Given the description of an element on the screen output the (x, y) to click on. 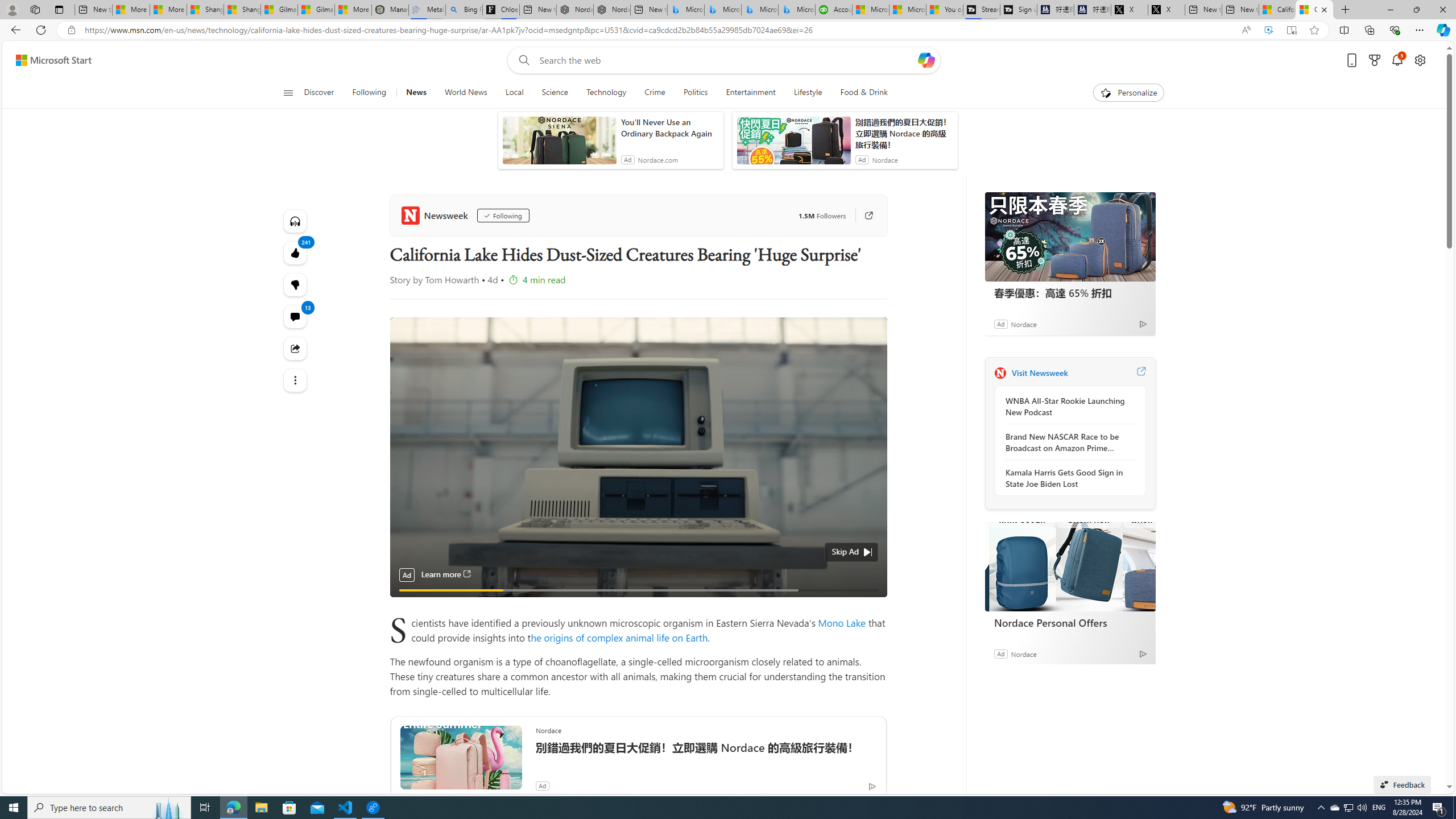
Local (514, 92)
Local (514, 92)
World News (465, 92)
Lifestyle (807, 92)
Bing Real Estate - Home sales and rental listings (464, 9)
241 Like (295, 252)
Technology (605, 92)
Newsweek (1000, 372)
